Given the description of an element on the screen output the (x, y) to click on. 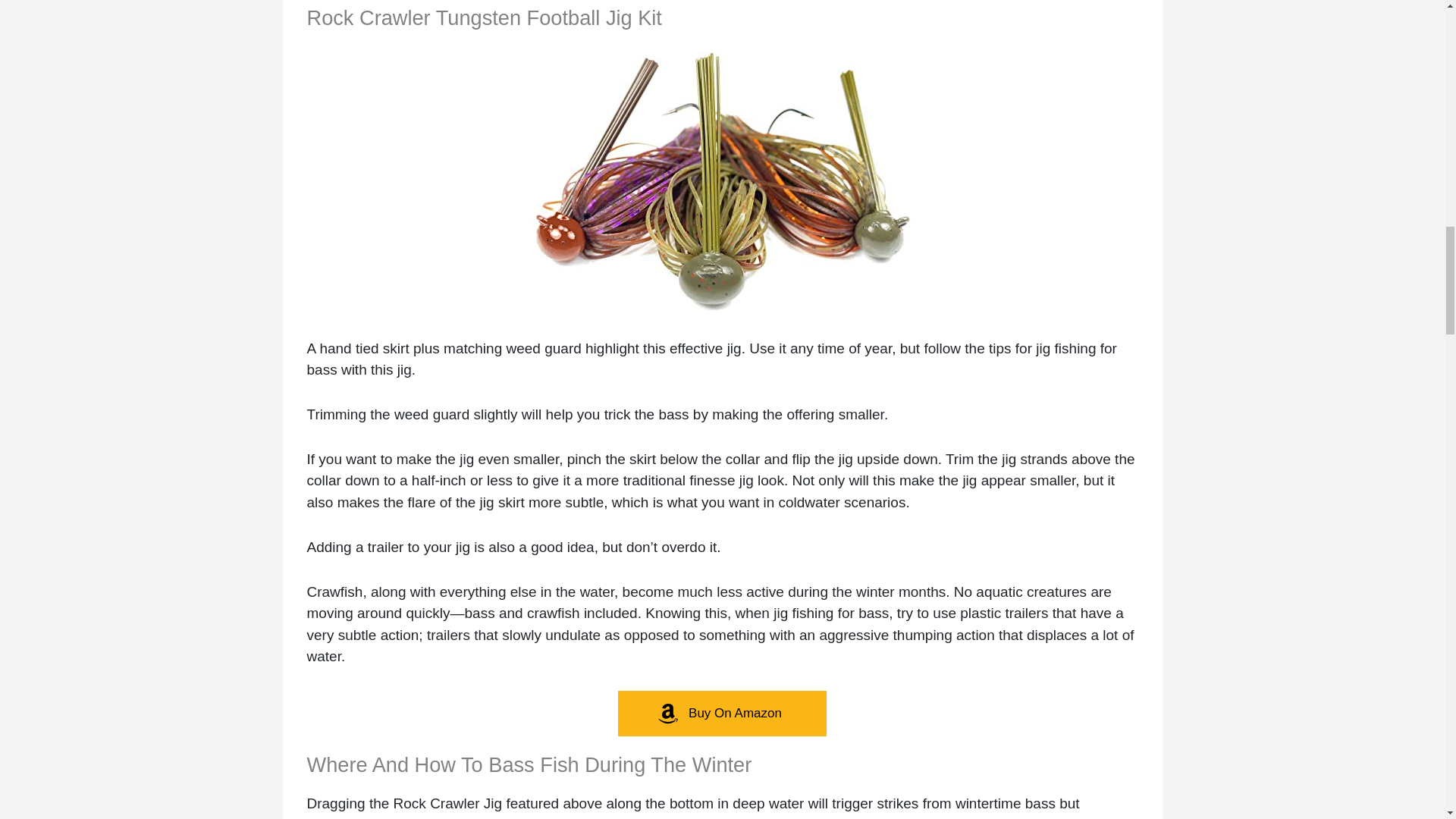
Buy On Amazon (722, 713)
